Given the description of an element on the screen output the (x, y) to click on. 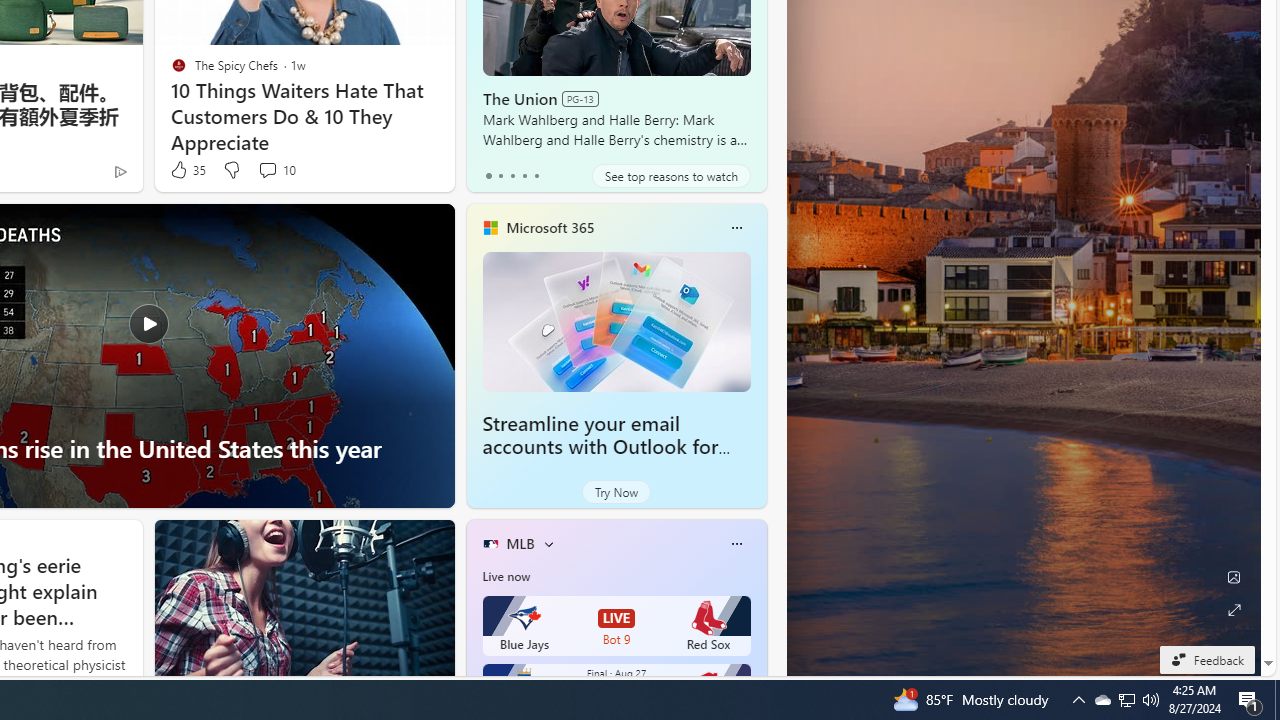
tab-3 (524, 175)
View comments 10 Comment (276, 170)
Blue Jays LIVE Bot 9 Red Sox (616, 625)
tab-1 (500, 175)
Expand background (1233, 610)
